Given the description of an element on the screen output the (x, y) to click on. 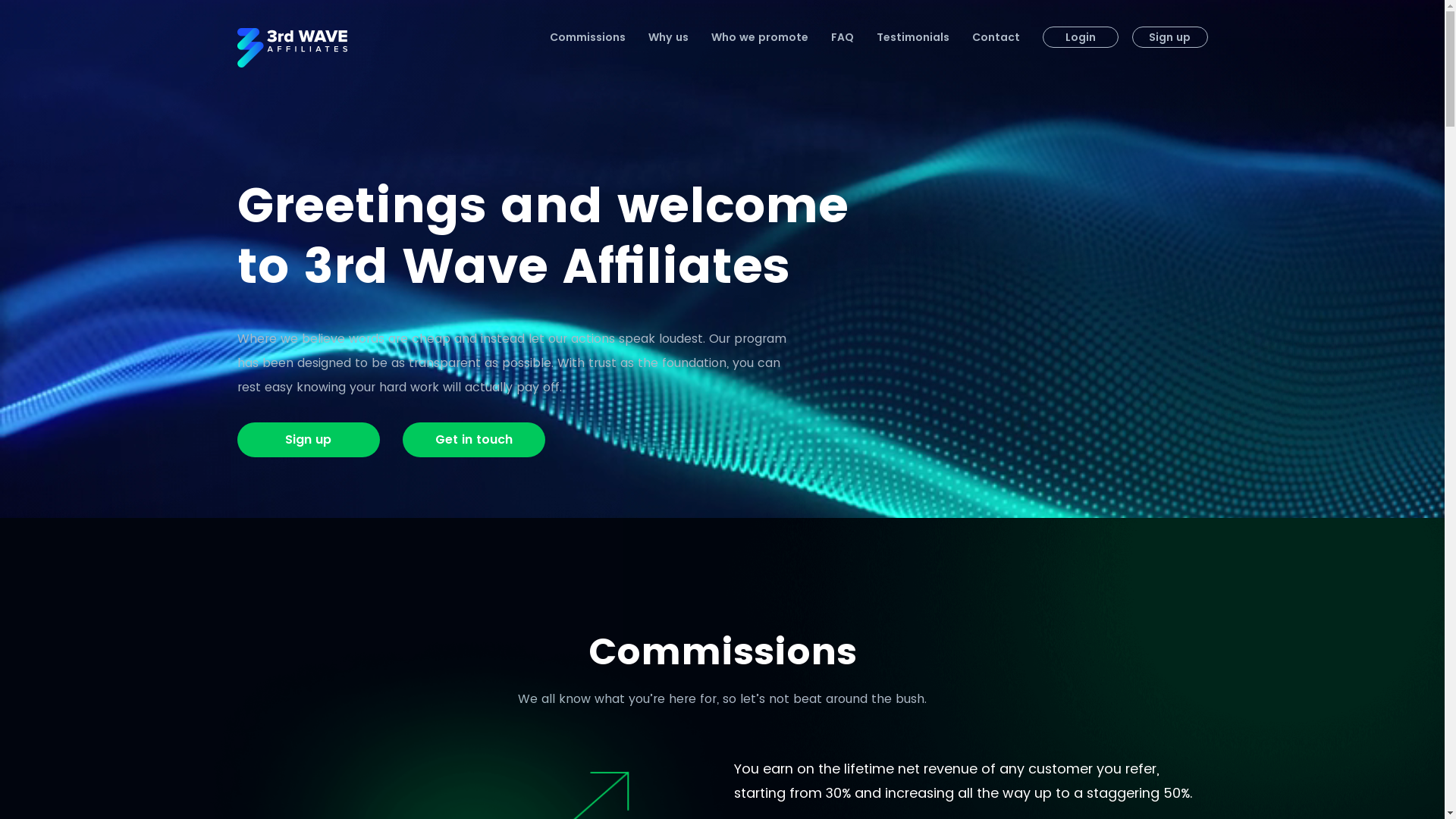
Sign up Element type: text (1169, 36)
Login Element type: text (1079, 36)
Get in touch Element type: text (472, 439)
Sign up Element type: text (307, 439)
